Given the description of an element on the screen output the (x, y) to click on. 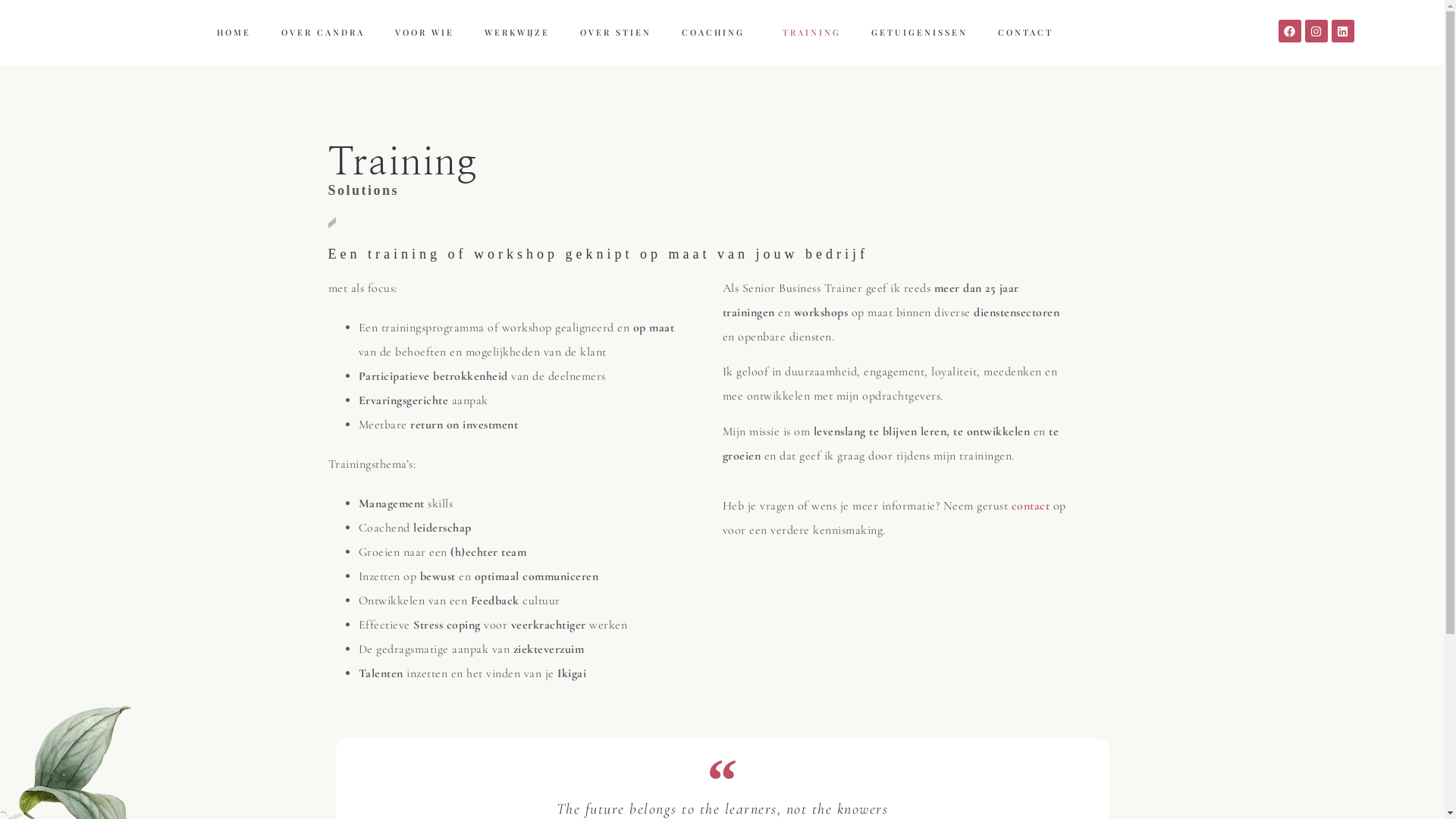
OVER CANDRA Element type: text (322, 32)
VOOR WIE Element type: text (424, 32)
CONTACT Element type: text (1025, 32)
contact Element type: text (1030, 505)
WERKWIJZE Element type: text (516, 32)
HOME Element type: text (233, 32)
OVER STIEN Element type: text (615, 32)
GETUIGENISSEN Element type: text (919, 32)
TRAINING Element type: text (811, 32)
COACHING Element type: text (716, 32)
